Given the description of an element on the screen output the (x, y) to click on. 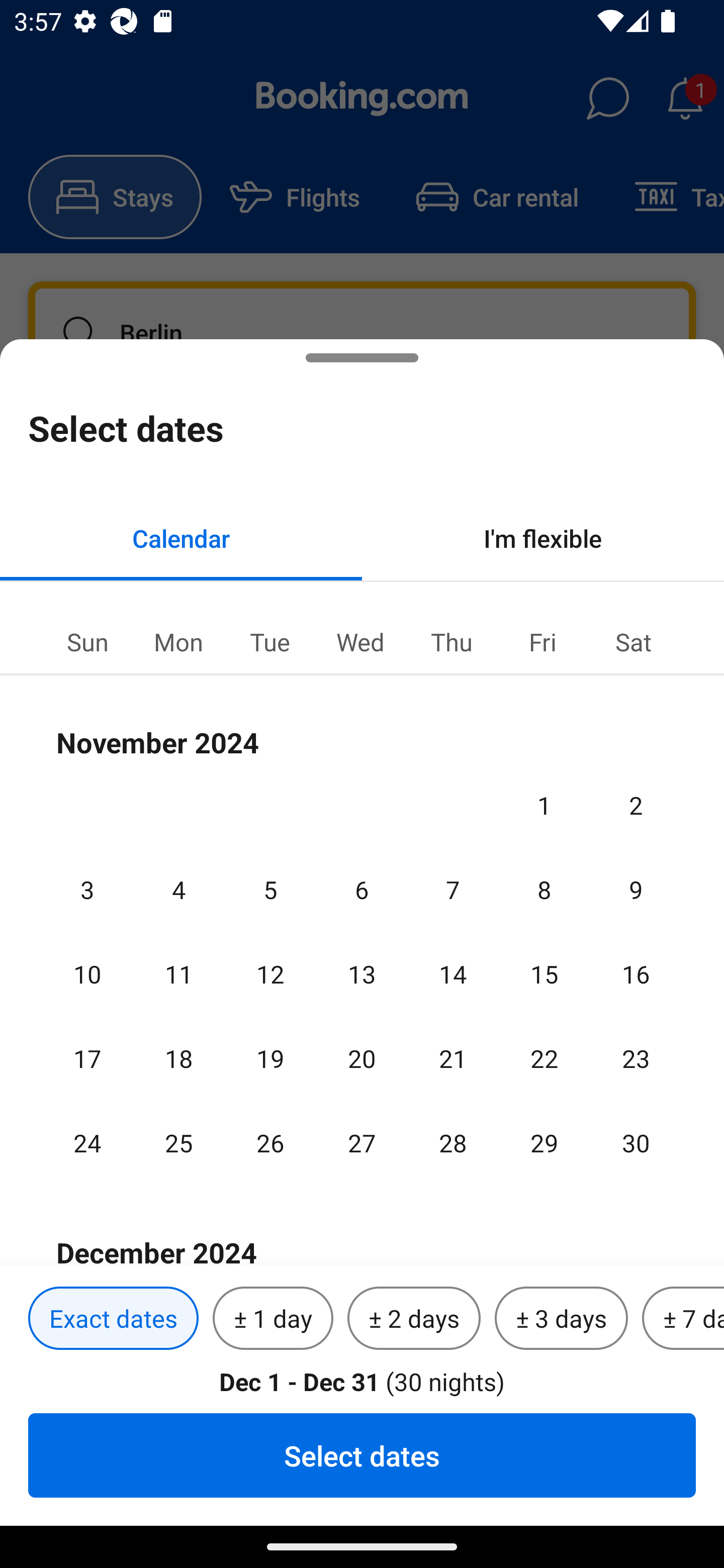
I'm flexible (543, 537)
Exact dates (113, 1318)
± 1 day (272, 1318)
± 2 days (413, 1318)
± 3 days (560, 1318)
± 7 days (683, 1318)
Select dates (361, 1454)
